Given the description of an element on the screen output the (x, y) to click on. 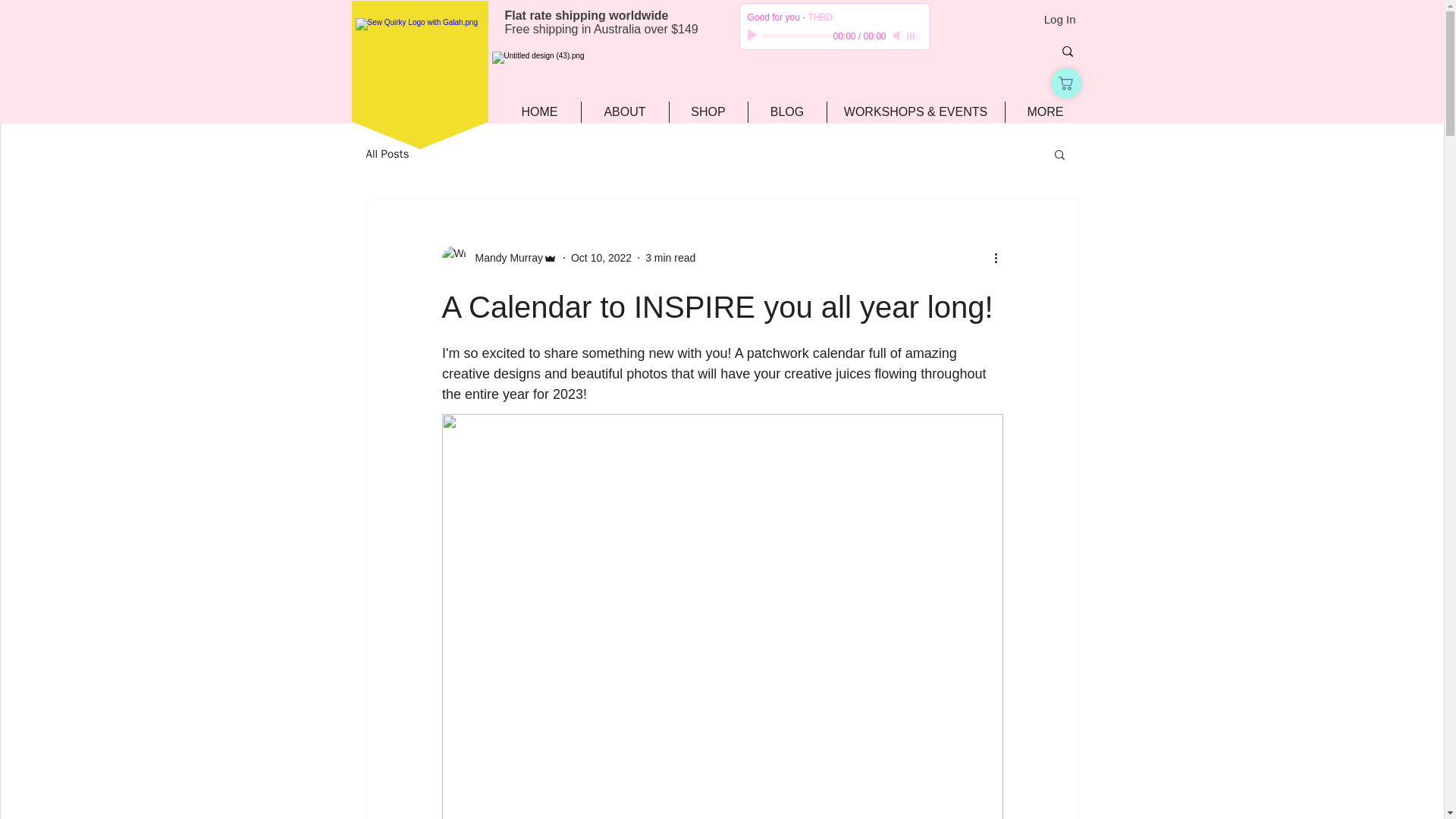
3 min read (670, 257)
BLOG (787, 111)
ABOUT (624, 111)
0 (795, 35)
Oct 10, 2022 (600, 257)
Mandy Murray (503, 258)
HOME (539, 111)
Log In (1059, 18)
All Posts (387, 154)
Mandy Murray (498, 257)
